Given the description of an element on the screen output the (x, y) to click on. 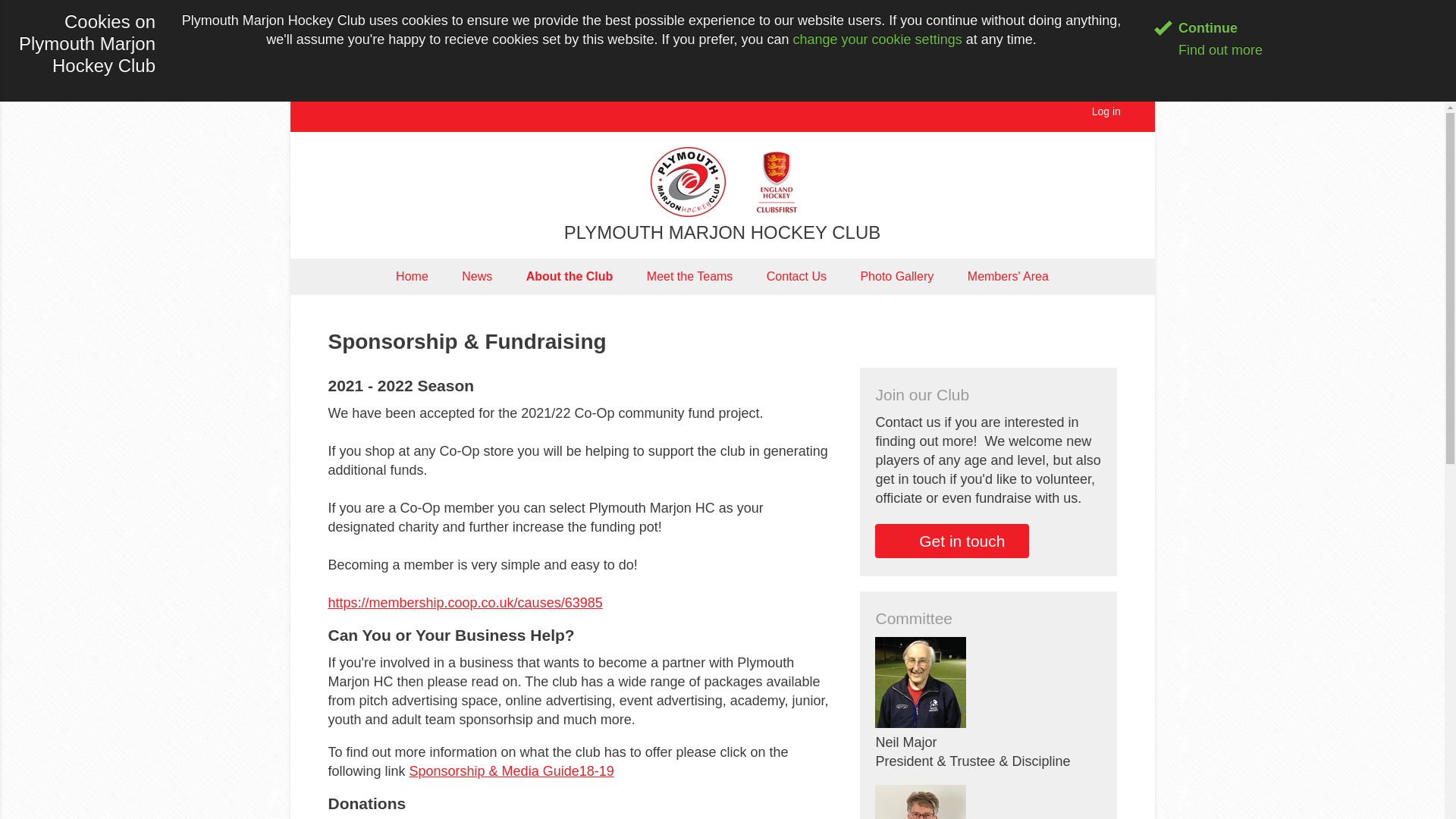
change your cookie settings (877, 38)
Continue (1195, 28)
Find out more (1208, 49)
